Given the description of an element on the screen output the (x, y) to click on. 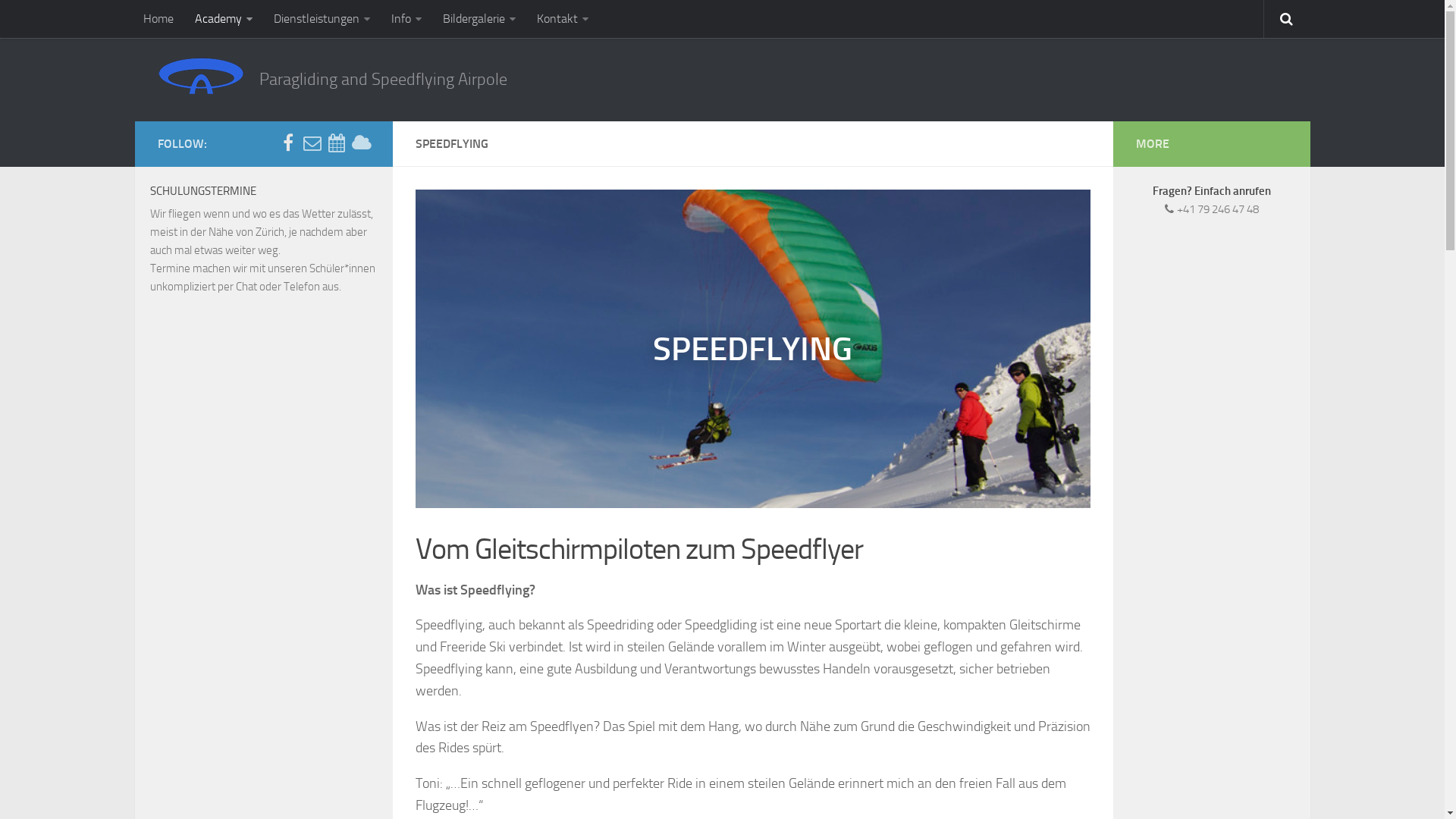
Eventkalender Element type: hover (336, 143)
Info Element type: text (406, 18)
Dienstleistungen Element type: text (321, 18)
Academy Element type: text (223, 18)
Kontakt Element type: text (562, 18)
Home Element type: text (158, 18)
Facebook Element type: hover (288, 143)
Bildergalerie Element type: text (479, 18)
Meteo Element type: hover (360, 143)
Newsletter Element type: hover (312, 143)
